Given the description of an element on the screen output the (x, y) to click on. 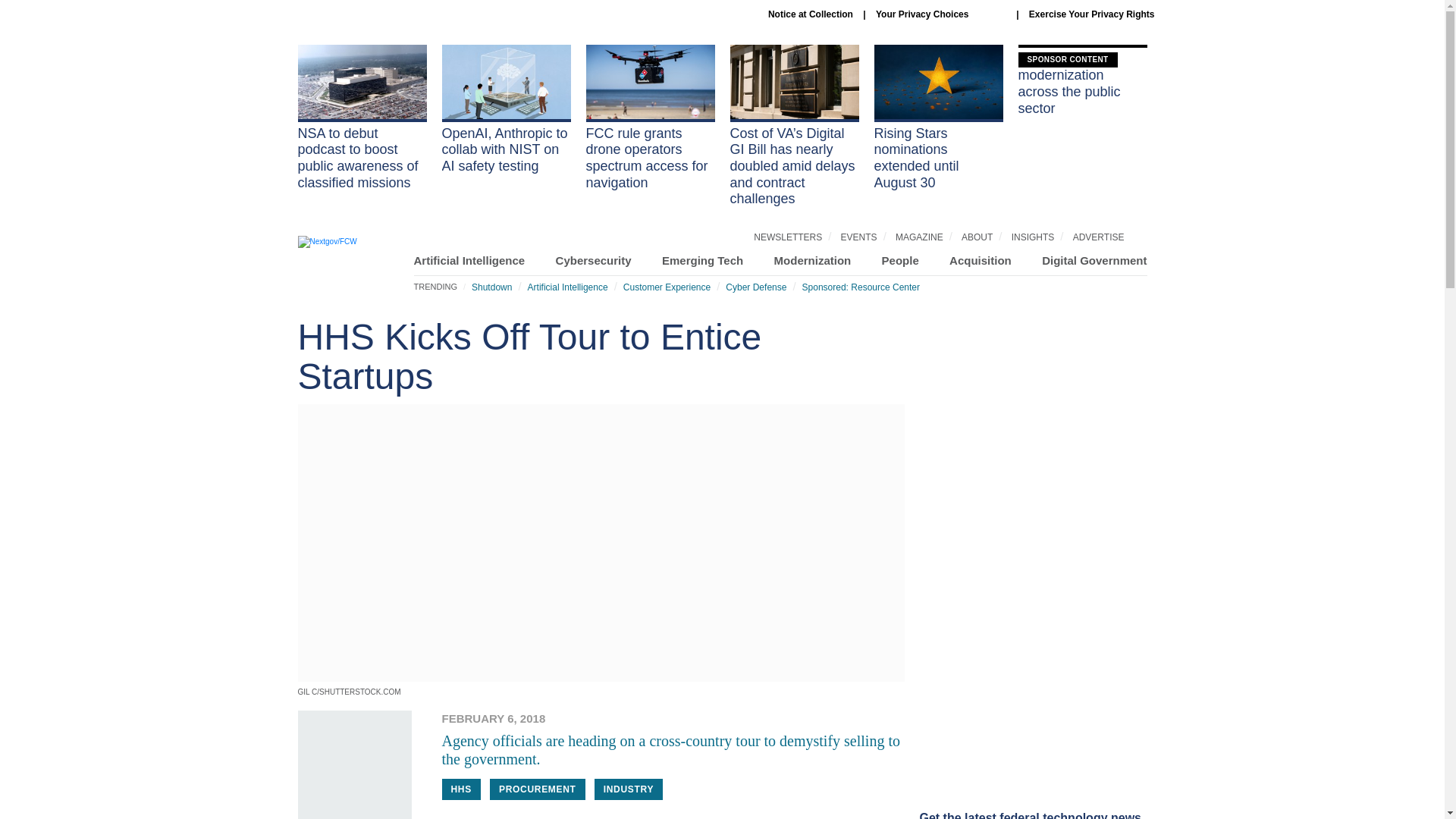
Modernization (812, 259)
ADVERTISE (1098, 236)
Emerging Tech (702, 259)
Sponsored: Resource Center (861, 286)
Cybersecurity (593, 259)
Cyber Defense (755, 286)
Digital Government (1094, 259)
INSIGHTS (1032, 236)
ABOUT (976, 236)
NEWSLETTERS (788, 236)
